Given the description of an element on the screen output the (x, y) to click on. 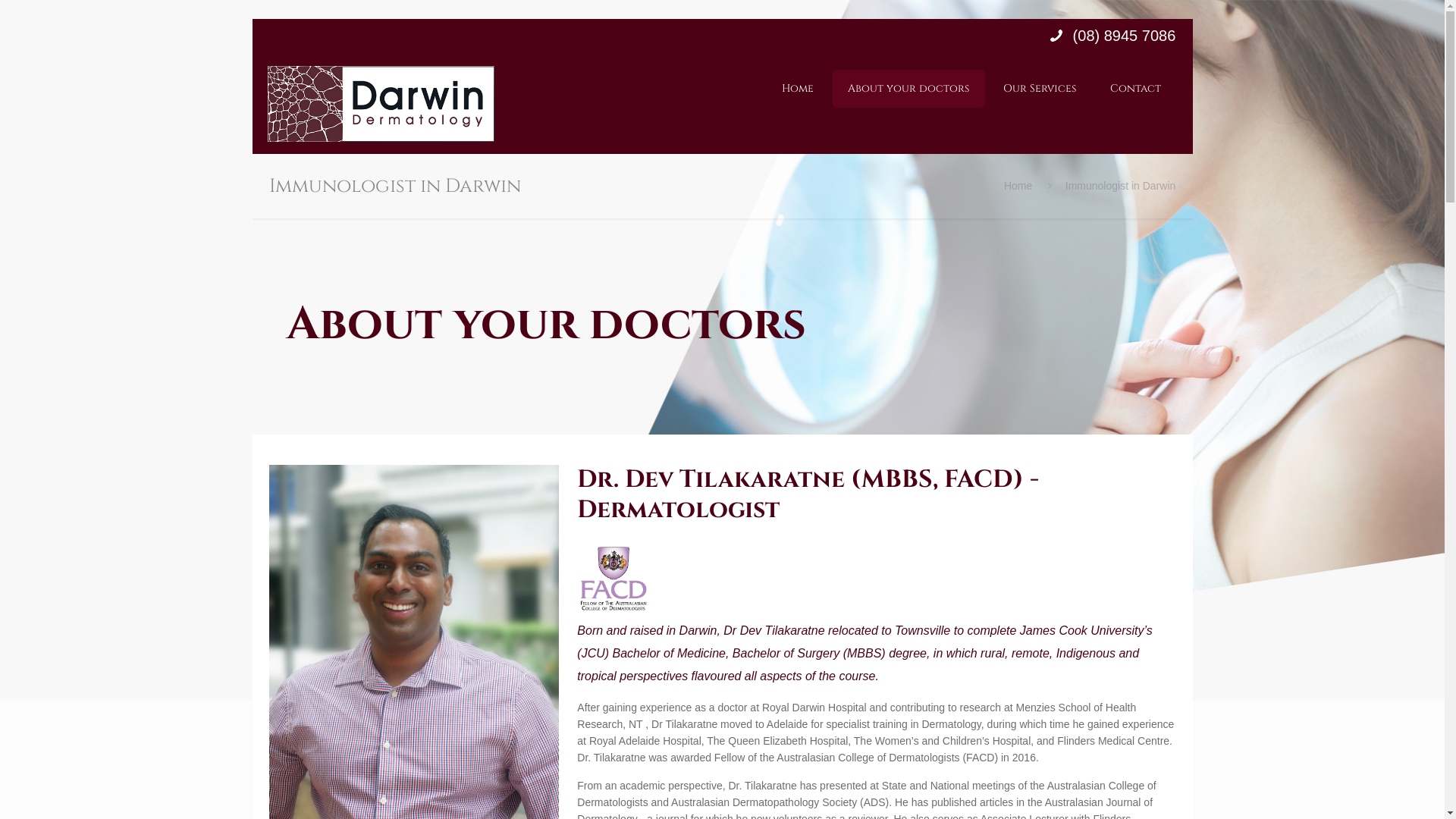
Contact Element type: text (1135, 88)
Home Element type: text (1018, 185)
Our Services Element type: text (1039, 88)
Home Element type: text (796, 88)
(08) 8945 7086 Element type: text (1121, 35)
About your doctors Element type: text (908, 88)
Darwin Dermatology Element type: hover (379, 103)
